Given the description of an element on the screen output the (x, y) to click on. 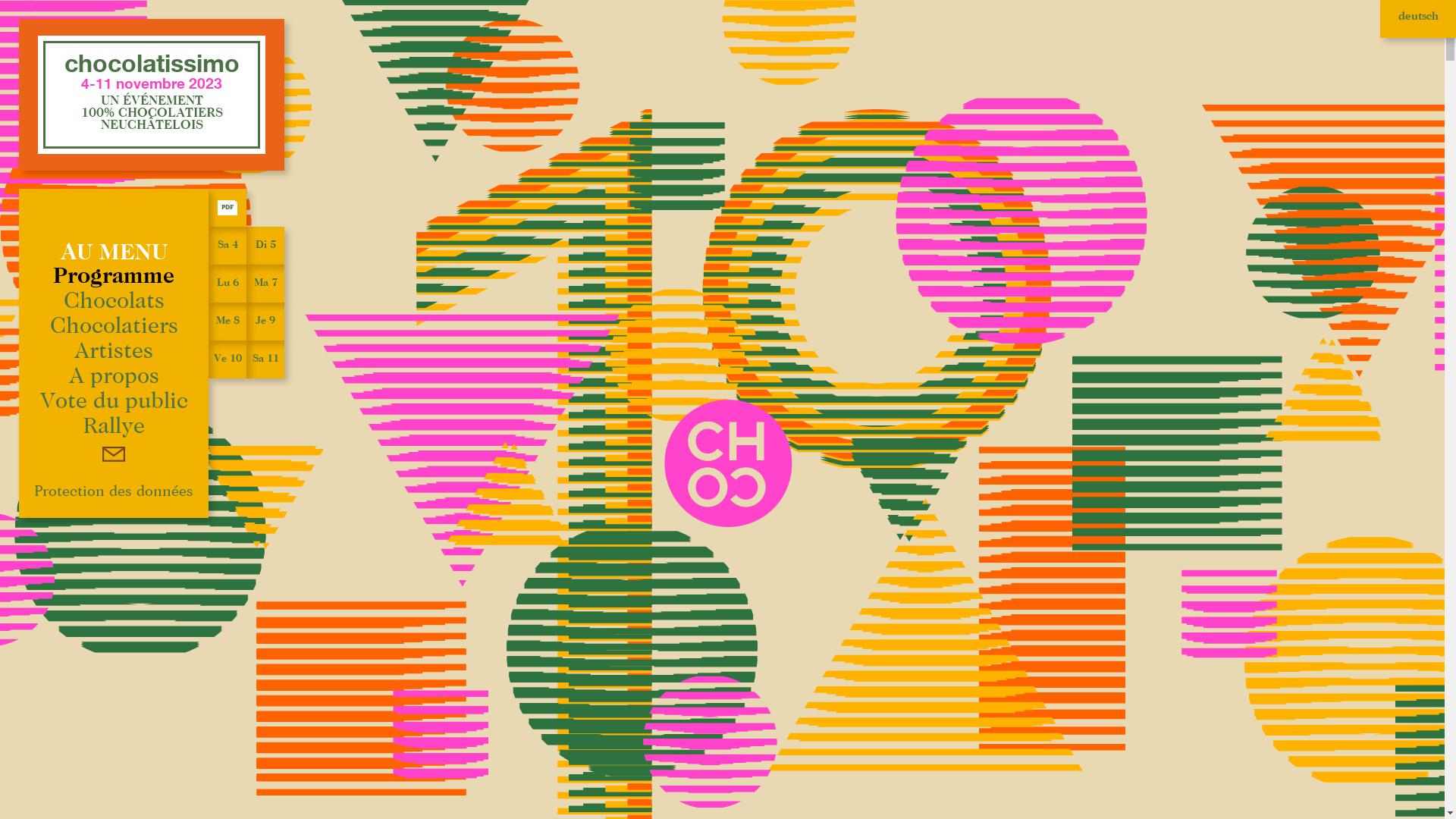
Rallye Element type: text (113, 426)
Artistes Element type: text (113, 351)
PDF Element type: text (227, 207)
Je 9 Element type: text (265, 321)
Chocolats Element type: text (113, 301)
A propos Element type: text (113, 376)
Sa 4 Element type: text (227, 245)
  Element type: text (113, 451)
Vote du public Element type: text (113, 401)
Programme Element type: text (113, 276)
Me 8 Element type: text (227, 321)
Chocolatiers Element type: text (114, 326)
Di 5 Element type: text (265, 245)
Lu 6 Element type: text (227, 283)
Sa 11 Element type: text (265, 359)
Ve 10 Element type: text (227, 359)
Ma 7 Element type: text (265, 283)
